Given the description of an element on the screen output the (x, y) to click on. 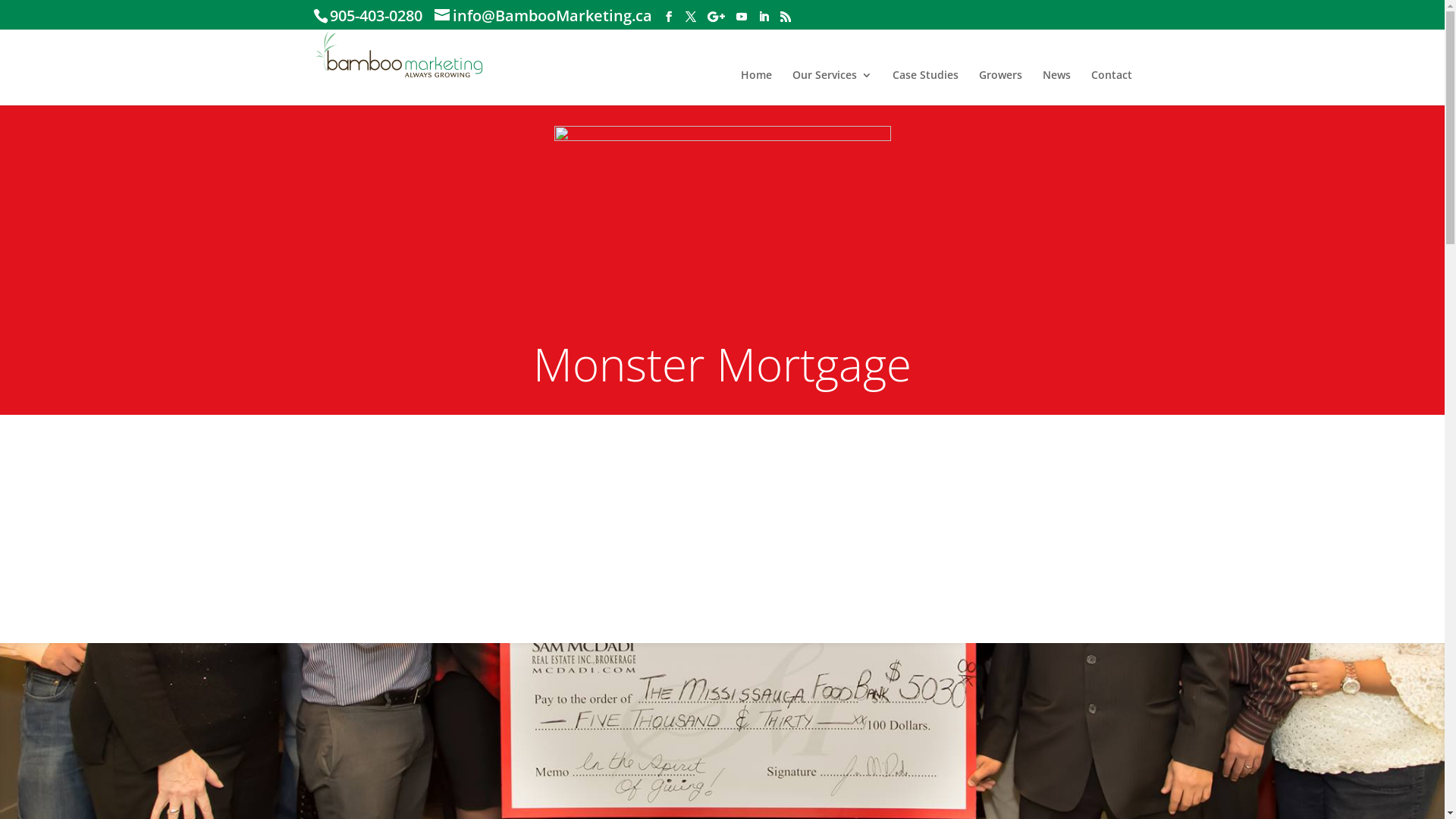
Growers Element type: text (999, 87)
Contact Element type: text (1110, 87)
Our Services Element type: text (831, 87)
Case Studies Element type: text (924, 87)
News Element type: text (1055, 87)
Home Element type: text (755, 87)
info@BambooMarketing.ca Element type: text (551, 15)
